Given the description of an element on the screen output the (x, y) to click on. 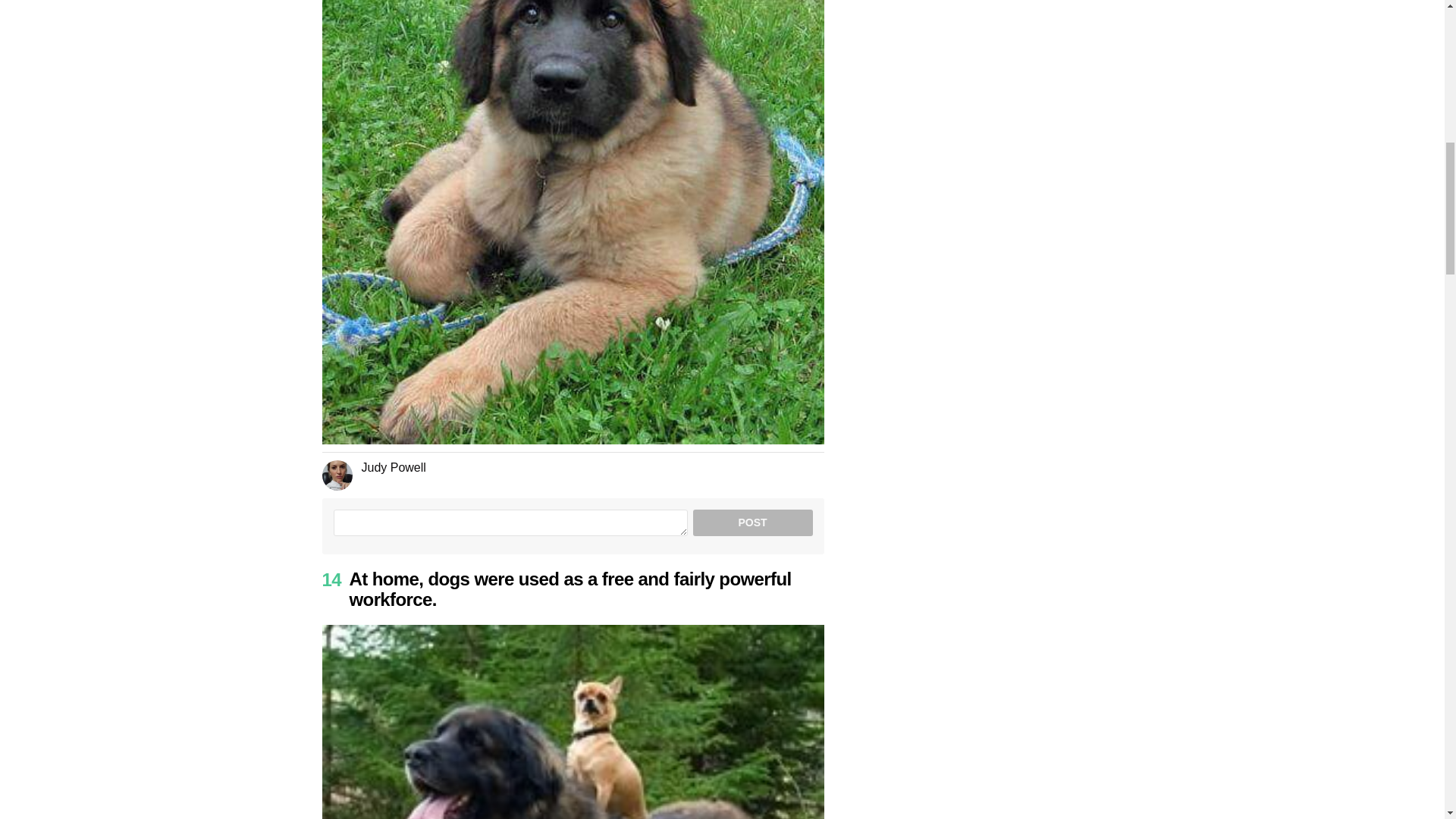
Post (752, 522)
